Given the description of an element on the screen output the (x, y) to click on. 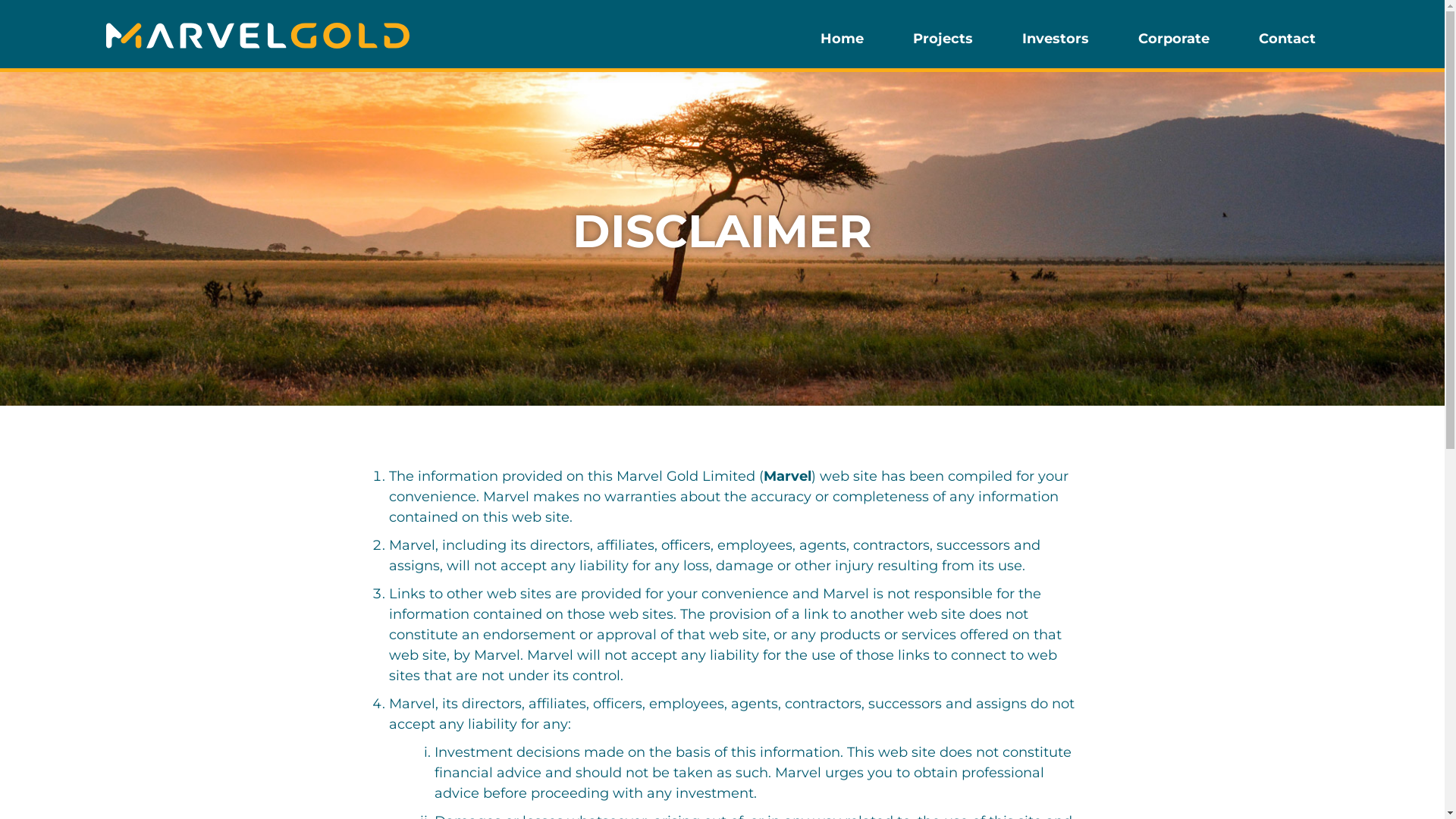
Home Element type: text (841, 45)
Contact Element type: text (1287, 45)
Corporate Element type: text (1173, 45)
Skip to primary navigation Element type: text (0, 0)
Projects Element type: text (942, 45)
Investors Element type: text (1055, 45)
